Given the description of an element on the screen output the (x, y) to click on. 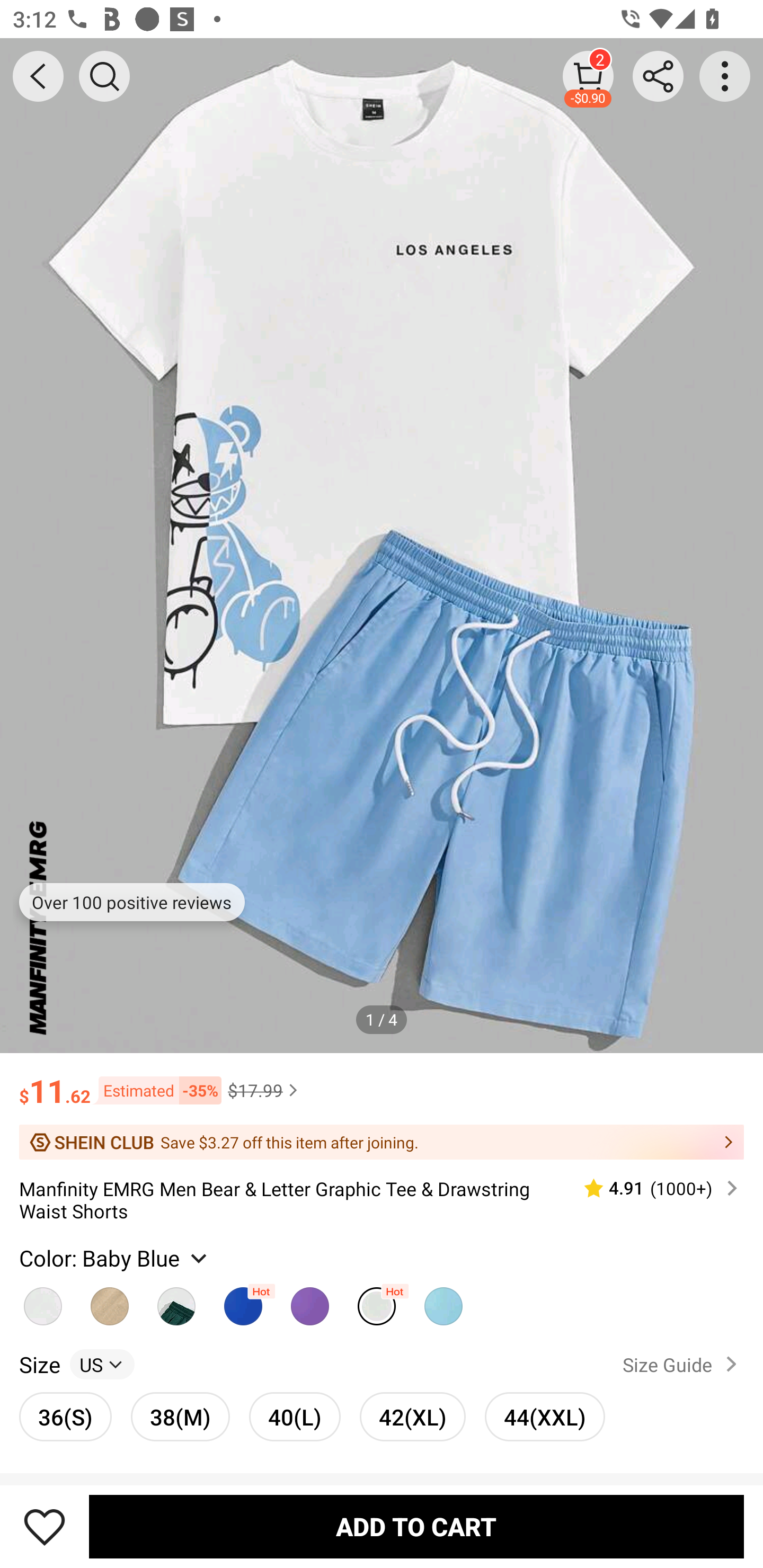
BACK (38, 75)
2 -$0.90 (588, 75)
1 / 4 (381, 1018)
Estimated -35% (155, 1089)
$17.99 (265, 1090)
Save $3.27 off this item after joining. (381, 1142)
4.91 (1000‎+) (653, 1188)
Color: Baby Blue (115, 1258)
Khaki (42, 1301)
Khaki (109, 1301)
Green (176, 1301)
Royal Blue (242, 1301)
Violet Purple (309, 1301)
Baby Blue (376, 1301)
Mint Blue (443, 1301)
Size (39, 1363)
US (102, 1363)
Size Guide (682, 1363)
36(S) 36(S)unselected option (65, 1416)
38(M) 38(M)unselected option (180, 1416)
40(L) 40(L)unselected option (294, 1416)
42(XL) 42(XL)unselected option (412, 1416)
44(XXL) 44(XXL)unselected option (544, 1416)
ADD TO CART (416, 1526)
Save (44, 1526)
